Given the description of an element on the screen output the (x, y) to click on. 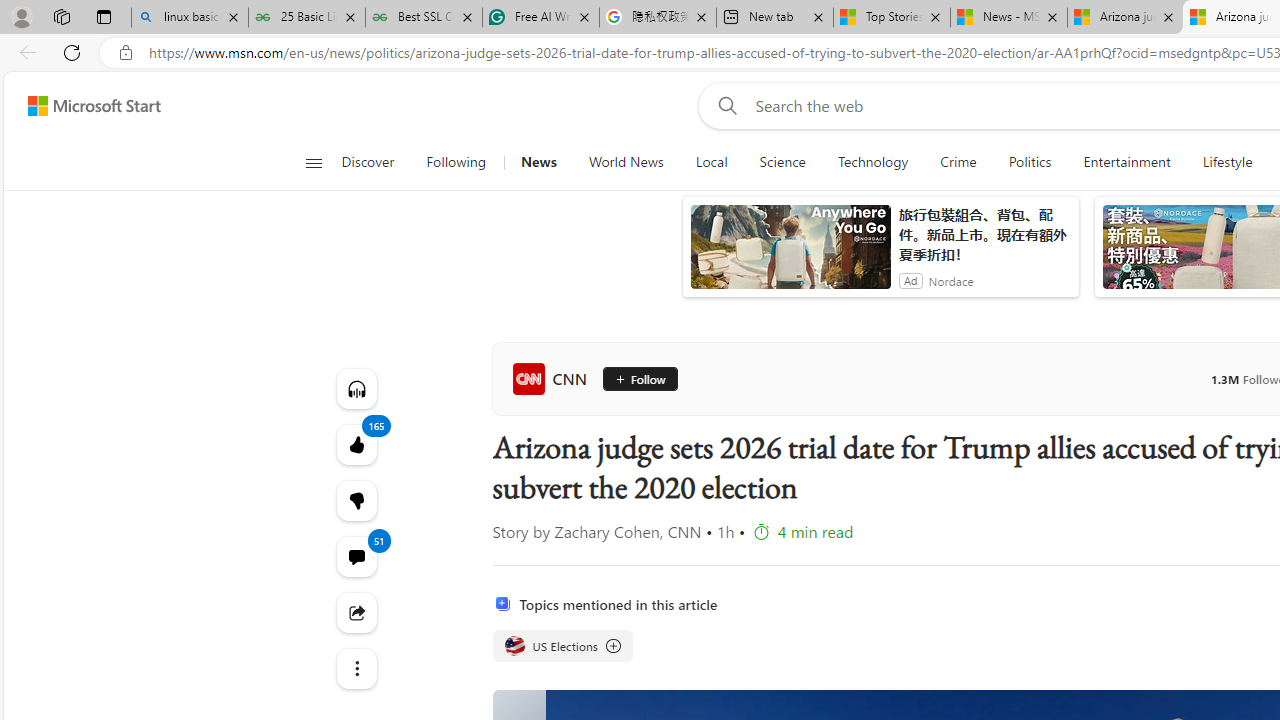
US Elections (562, 645)
linux basic - Search (189, 17)
Lifestyle (1227, 162)
Free AI Writing Assistance for Students | Grammarly (540, 17)
Web search (724, 105)
Technology (872, 162)
News - MSN (1009, 17)
Open navigation menu (313, 162)
CNN (553, 378)
Local (711, 162)
